Given the description of an element on the screen output the (x, y) to click on. 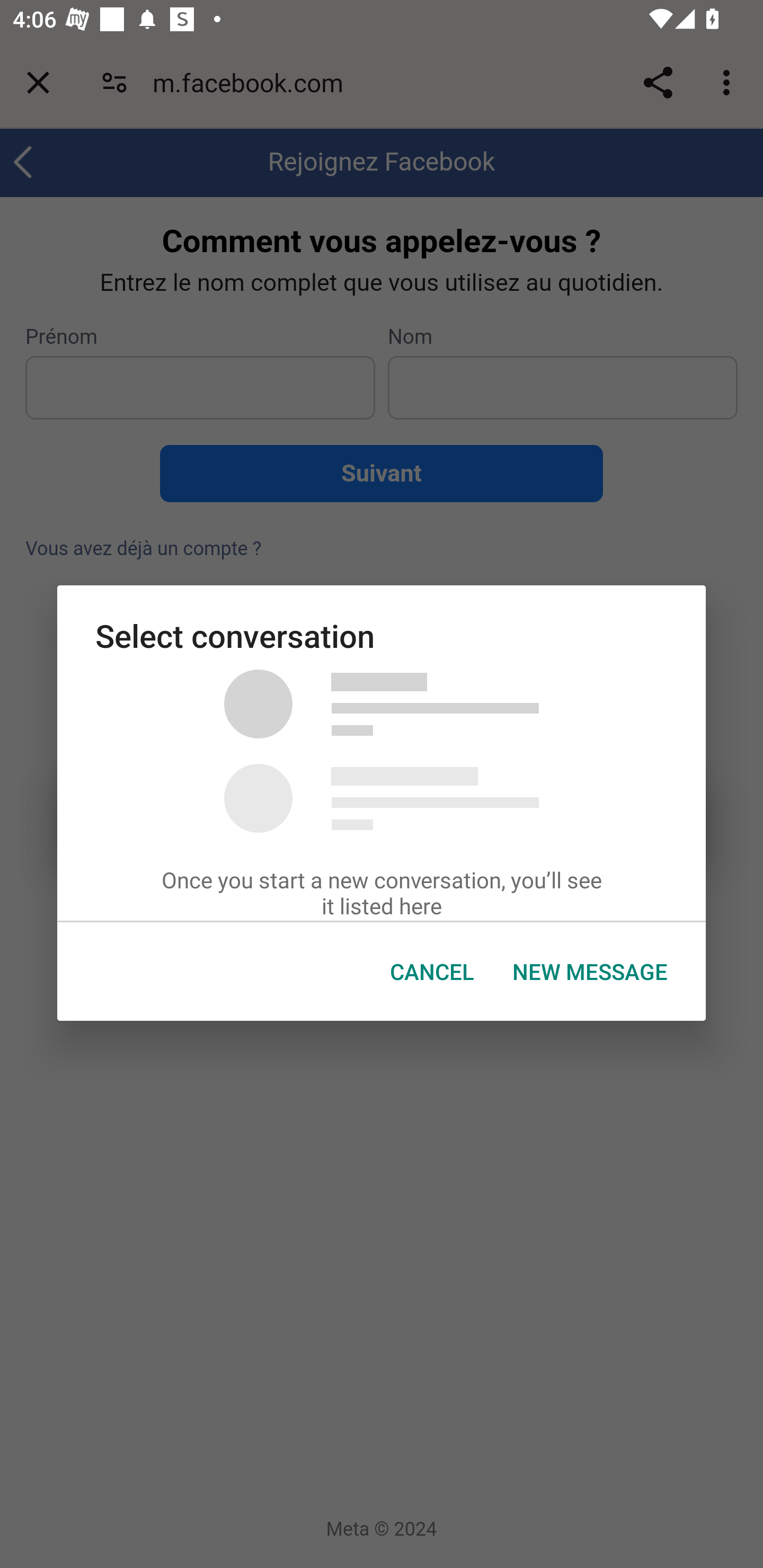
CANCEL (431, 971)
NEW MESSAGE (589, 971)
